Given the description of an element on the screen output the (x, y) to click on. 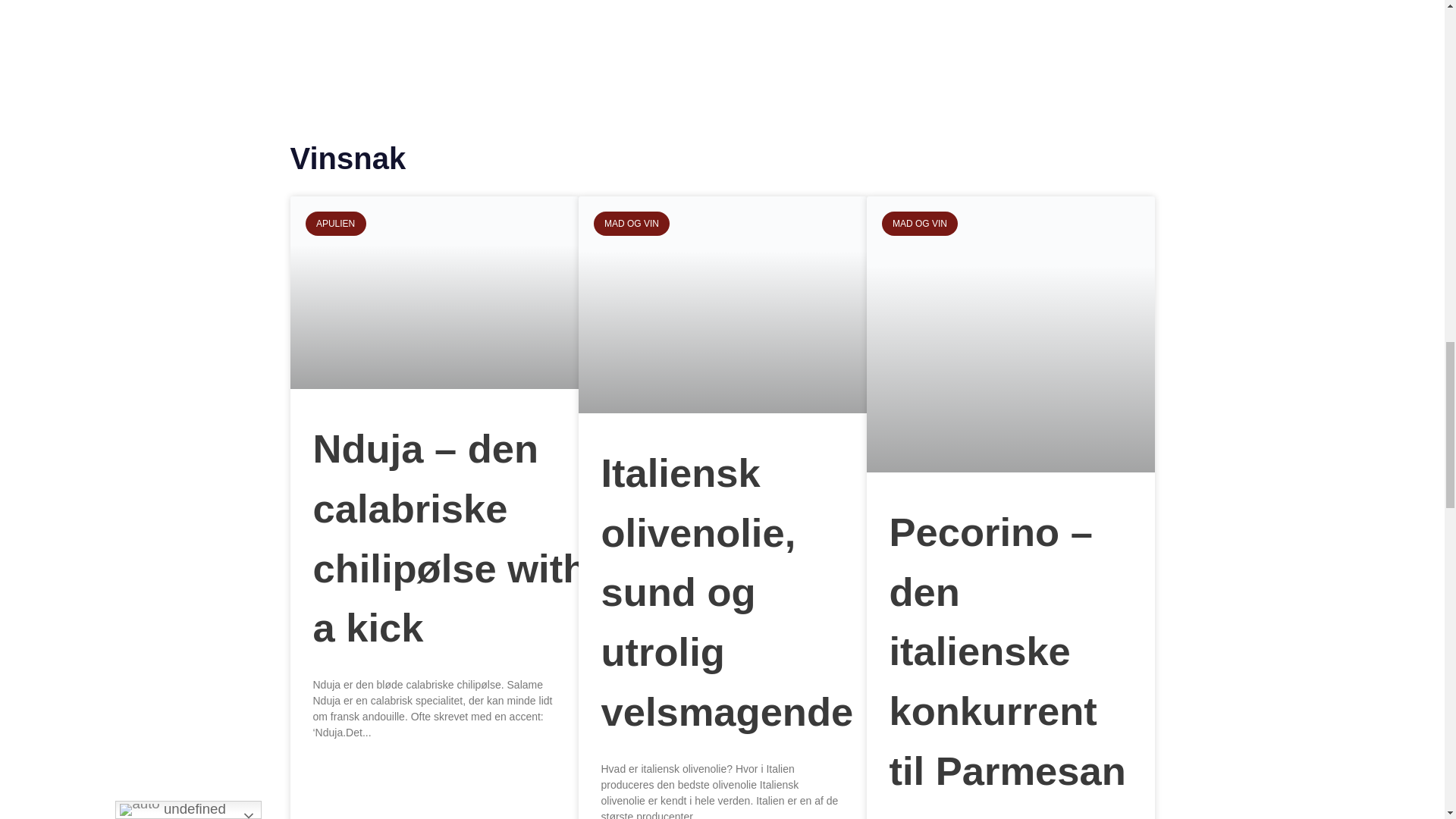
Italiensk olivenolie, sund og utrolig velsmagende (726, 591)
